Given the description of an element on the screen output the (x, y) to click on. 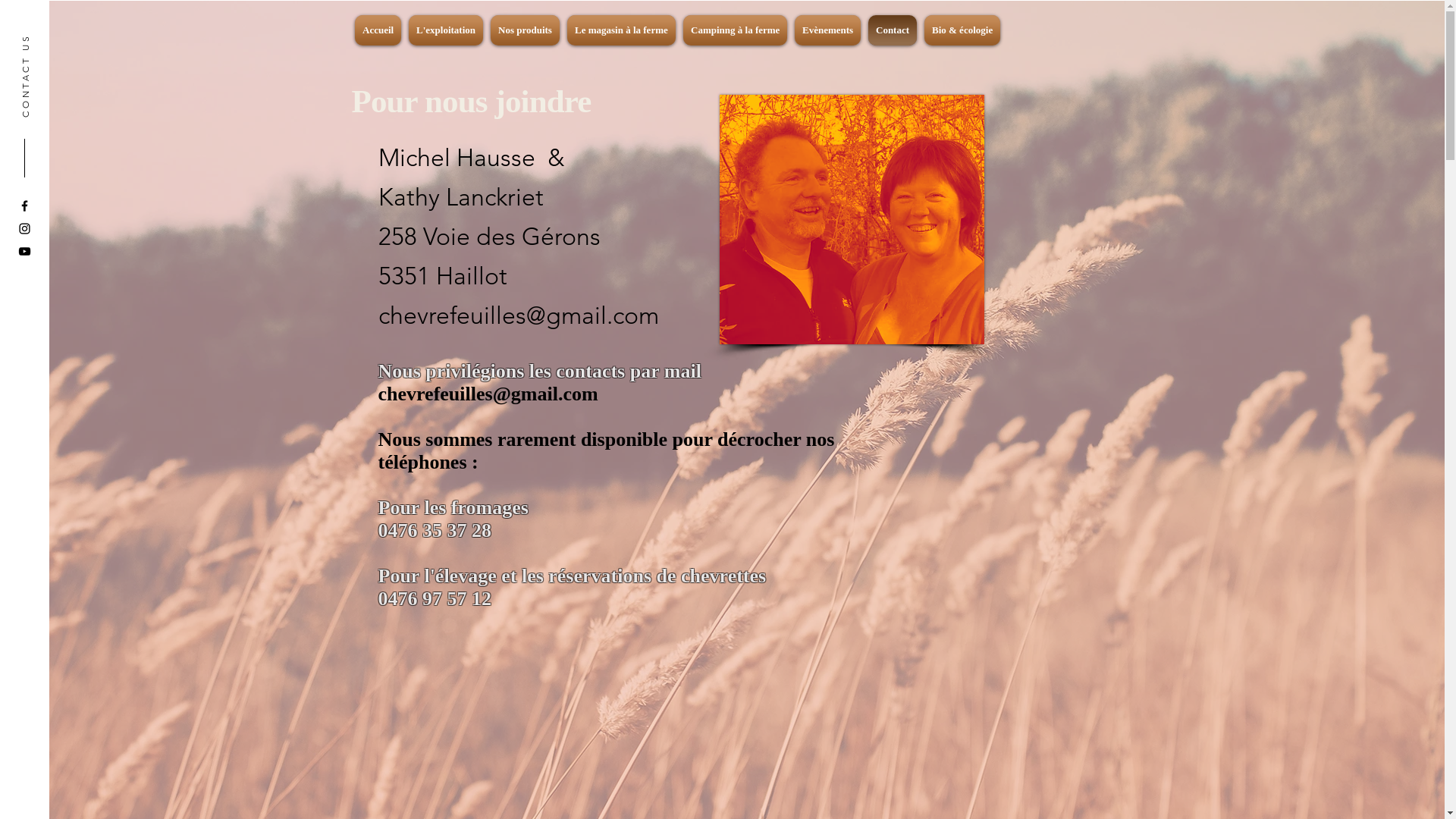
chevrefeuilles@gmail.com Element type: text (487, 393)
CONTACT US Element type: text (61, 38)
chevrefeuilles@gmail.com Element type: text (517, 315)
Nos produits Element type: text (524, 30)
Accueil Element type: text (379, 30)
L'exploitation Element type: text (445, 30)
Contact Element type: text (892, 30)
